Given the description of an element on the screen output the (x, y) to click on. 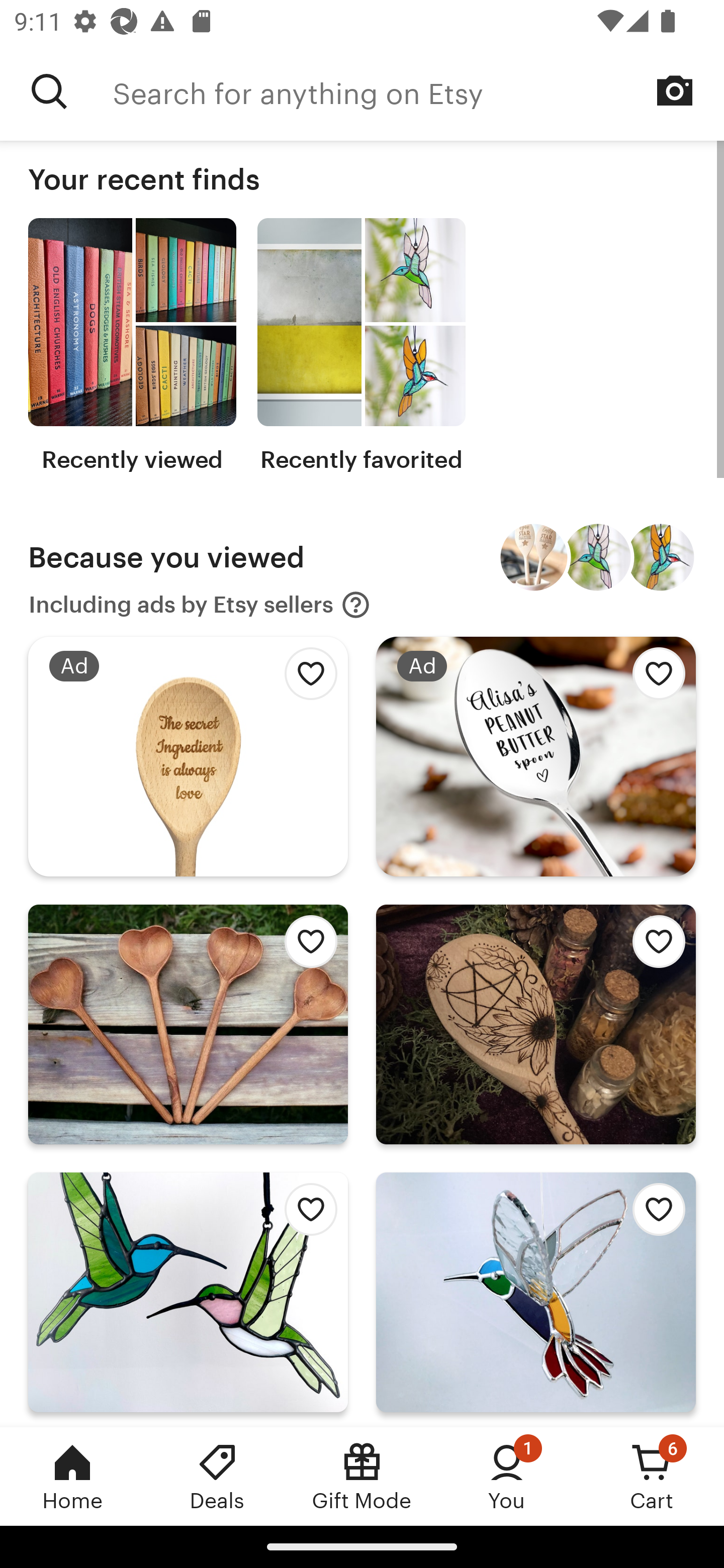
Search for anything on Etsy (49, 91)
Search by image (674, 90)
Search for anything on Etsy (418, 91)
Recently viewed (132, 345)
Recently favorited (361, 345)
Including ads by Etsy sellers (199, 604)
Deals (216, 1475)
Gift Mode (361, 1475)
You, 1 new notification You (506, 1475)
Cart, 6 new notifications Cart (651, 1475)
